Given the description of an element on the screen output the (x, y) to click on. 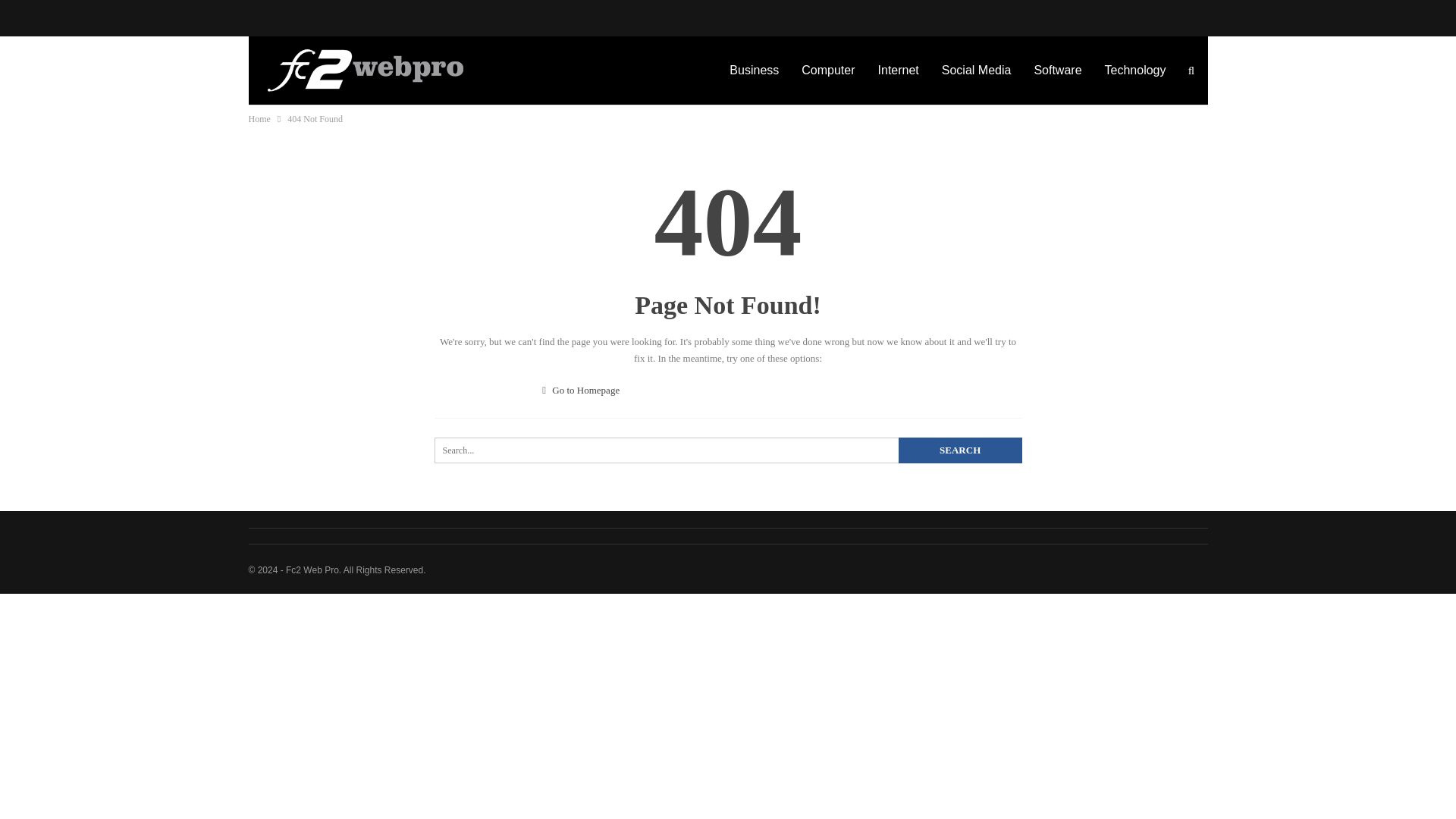
Search (960, 450)
Computer (828, 70)
Search (960, 450)
Social Media (976, 70)
Internet (898, 70)
Software (1057, 70)
Home (259, 118)
Technology (1135, 70)
Search (960, 450)
Business (753, 70)
Go to Homepage (580, 389)
Search for: (727, 450)
